Given the description of an element on the screen output the (x, y) to click on. 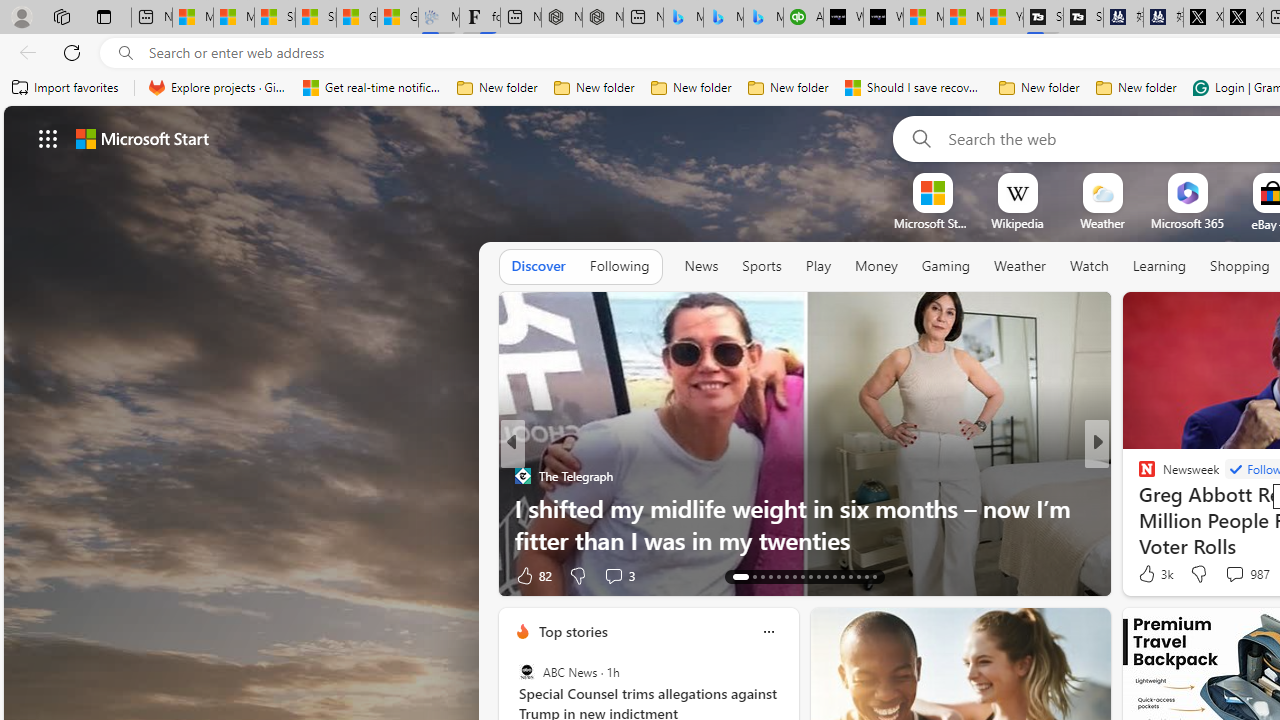
202 Like (1151, 574)
Housely (1138, 475)
View comments 17 Comment (1234, 575)
AutomationID: tab-18 (786, 576)
View comments 1 Comment (1229, 575)
69 Like (1149, 574)
The Telegraph (522, 475)
FOX News (1138, 475)
Search icon (125, 53)
View comments 85 Comment (1237, 574)
